Given the description of an element on the screen output the (x, y) to click on. 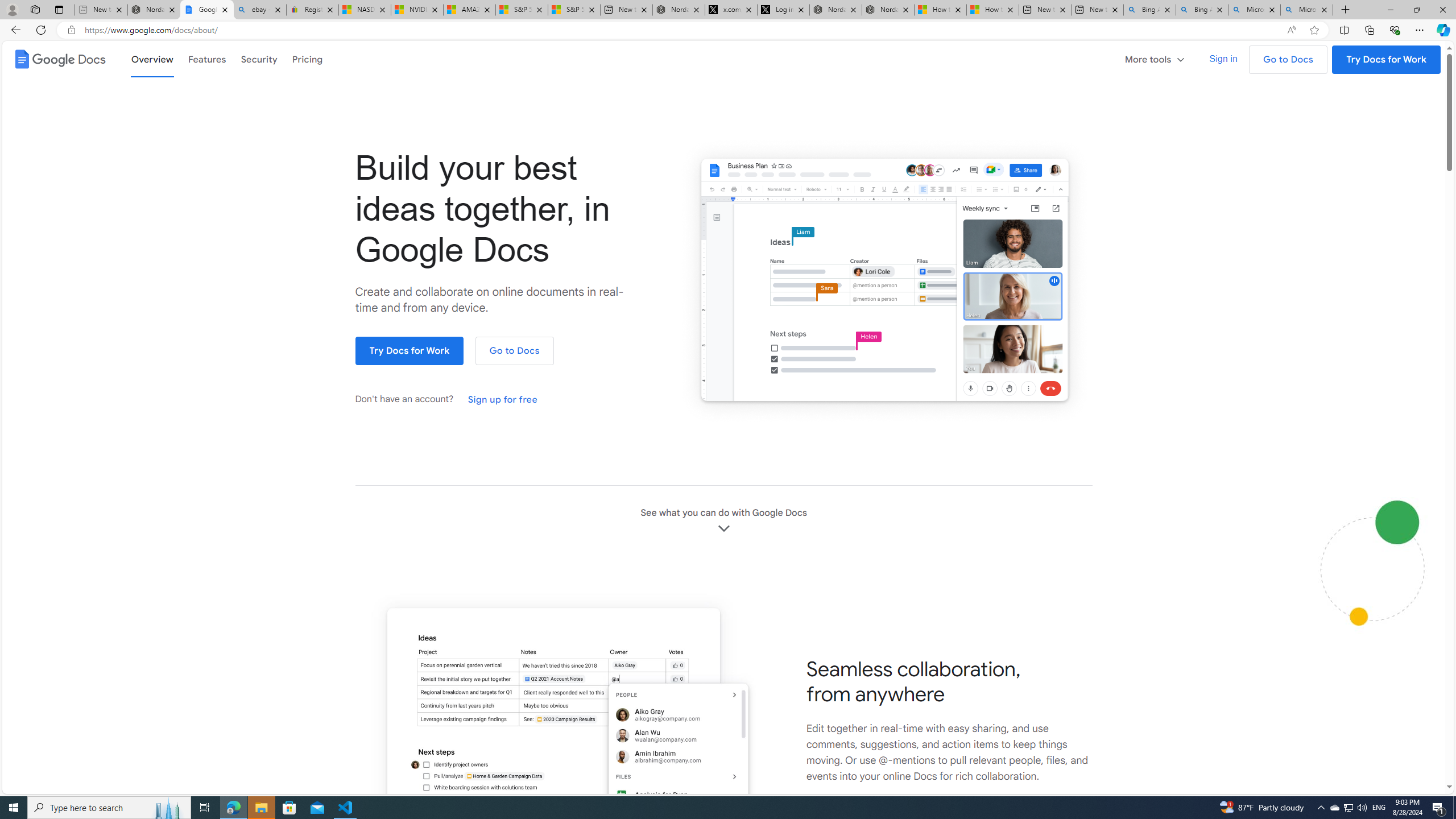
Google Docs (58, 58)
Features (207, 58)
Go to Docs (513, 351)
Bing AI - Search (1201, 9)
x.com/NordaceOfficial (730, 9)
More tools (1154, 58)
Overview (151, 58)
See what you can do with Google Docs (723, 521)
Register: Create a personal eBay account (312, 9)
